Given the description of an element on the screen output the (x, y) to click on. 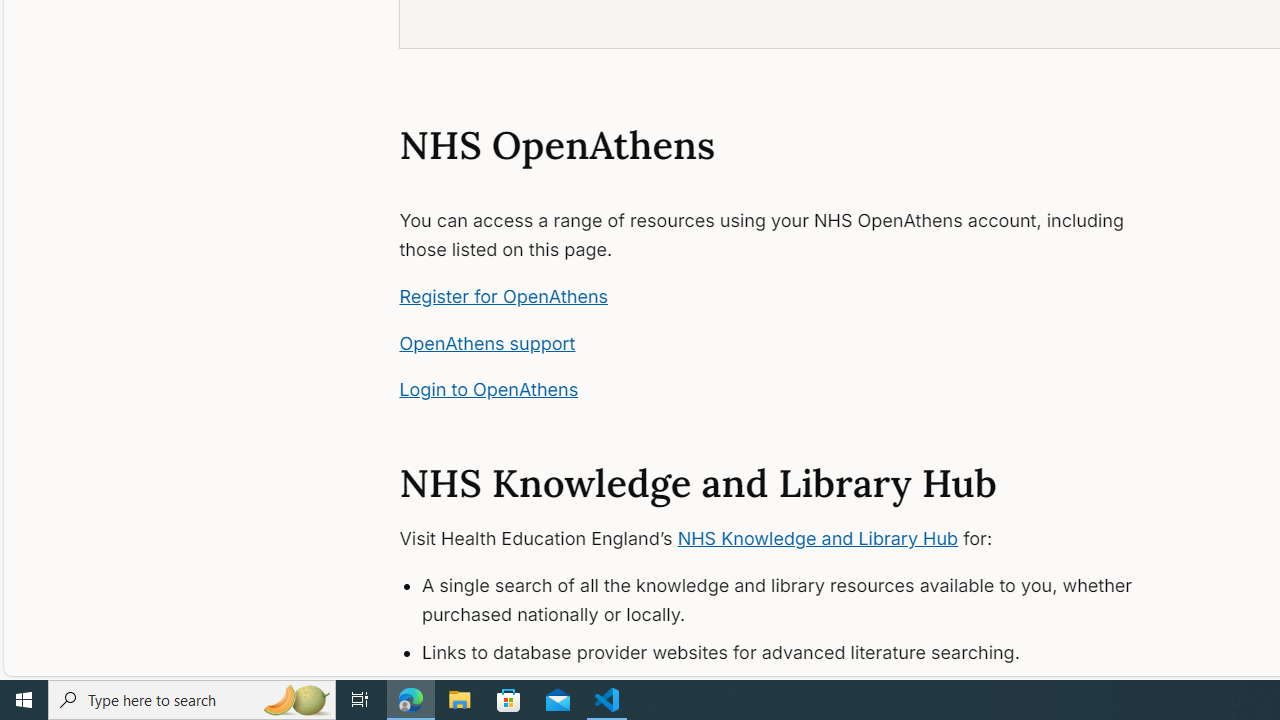
OpenAthens support (487, 342)
NHS Knowledge and Library Hub (817, 538)
Register for OpenAthens (504, 295)
Login to OpenAthens (488, 389)
